Given the description of an element on the screen output the (x, y) to click on. 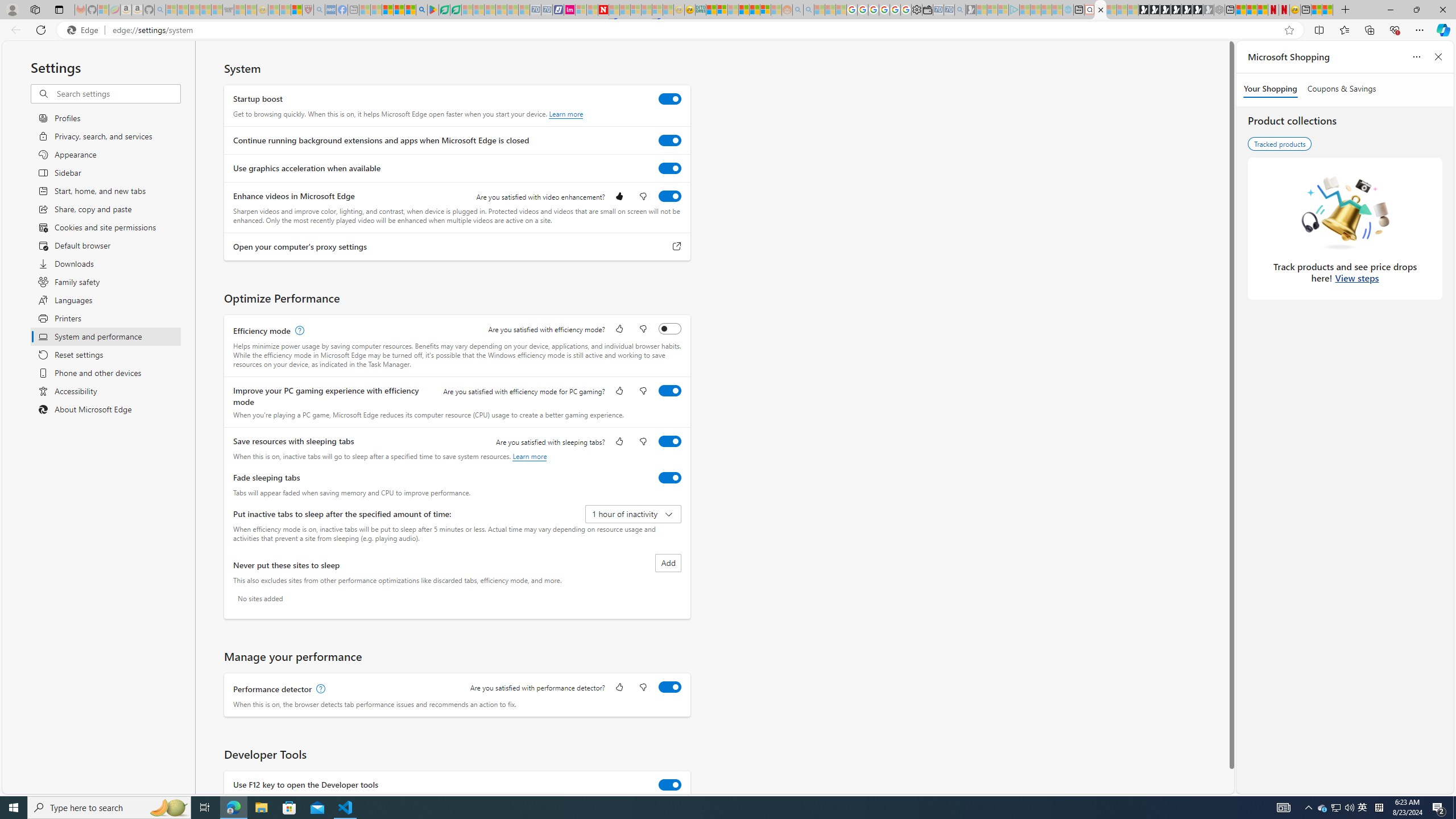
Startup boost (669, 98)
New Report Confirms 2023 Was Record Hot | Watch - Sleeping (216, 9)
Home | Sky Blue Bikes - Sky Blue Bikes - Sleeping (1068, 9)
